Given the description of an element on the screen output the (x, y) to click on. 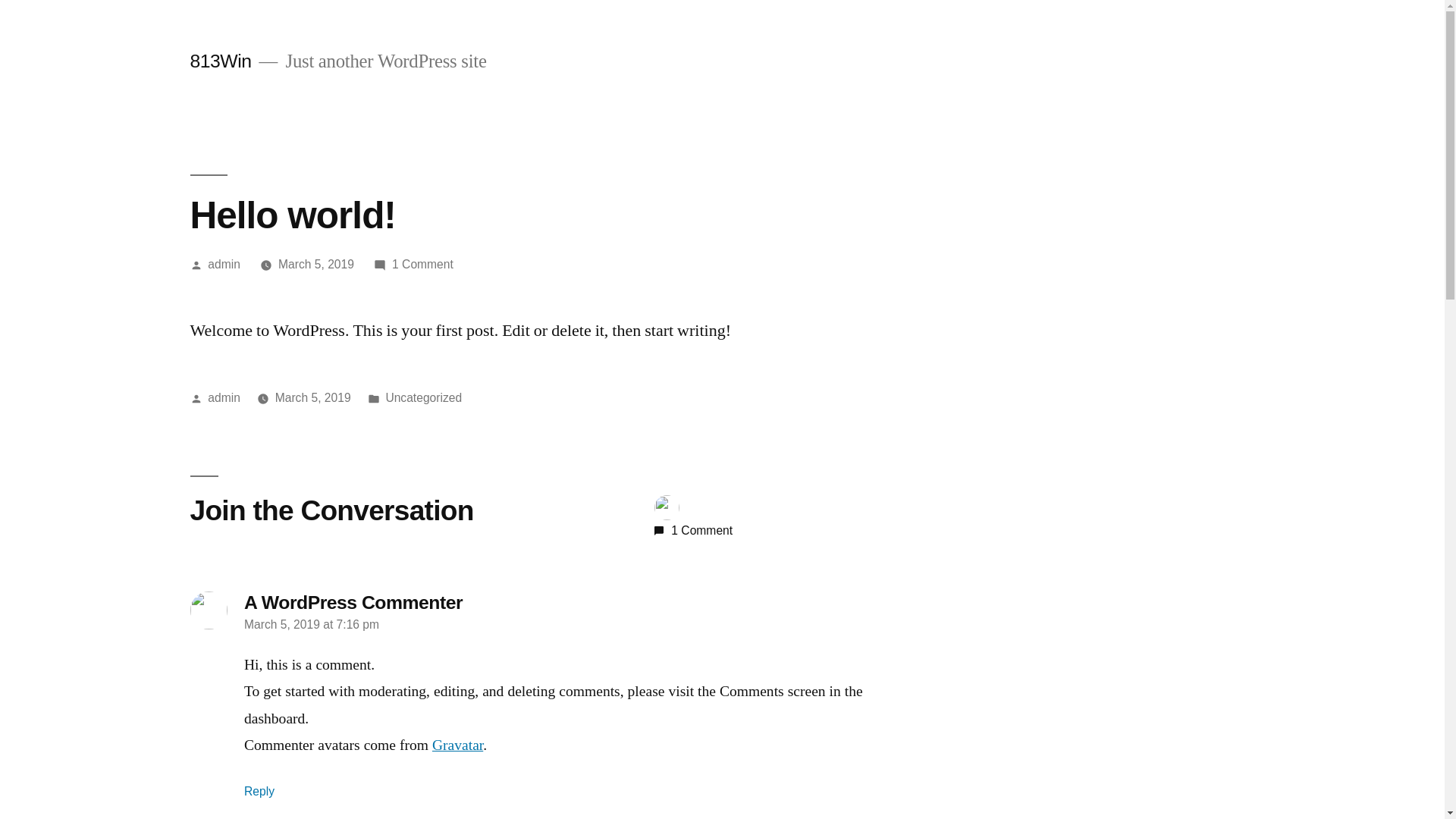
813Win Element type: text (220, 60)
March 5, 2019 Element type: text (313, 397)
Gravatar Element type: text (457, 745)
Reply Element type: text (259, 791)
Uncategorized Element type: text (423, 397)
admin Element type: text (223, 397)
March 5, 2019 at 7:16 pm Element type: text (311, 624)
A WordPress Commenter Element type: text (353, 602)
1 Comment
on Hello world! Element type: text (422, 263)
admin Element type: text (223, 263)
March 5, 2019 Element type: text (316, 263)
